Given the description of an element on the screen output the (x, y) to click on. 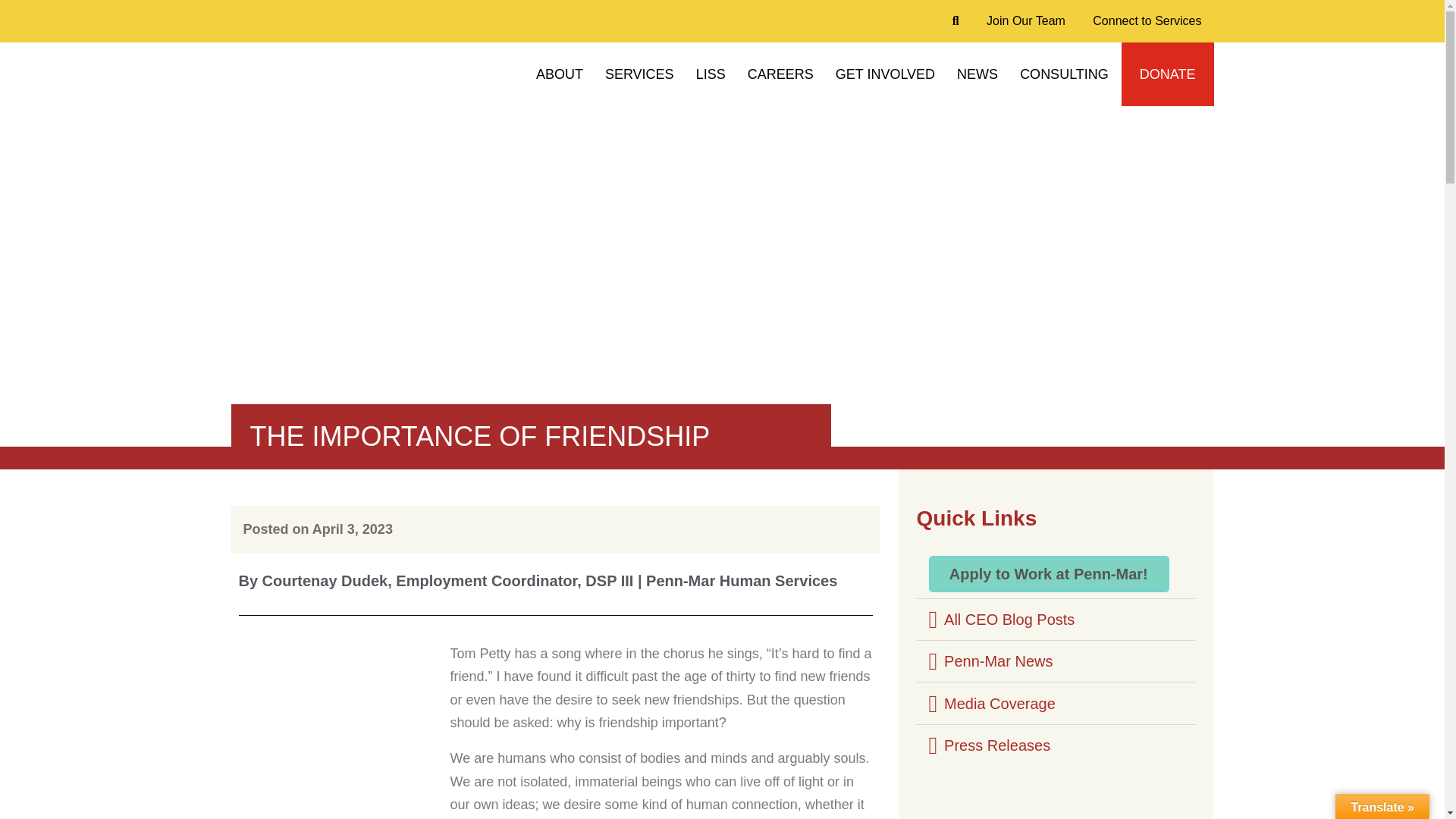
Connect to Services (1146, 21)
GET INVOLVED (885, 74)
Join Our Team (1025, 21)
SERVICES (638, 74)
CAREERS (780, 74)
ABOUT (559, 74)
